Given the description of an element on the screen output the (x, y) to click on. 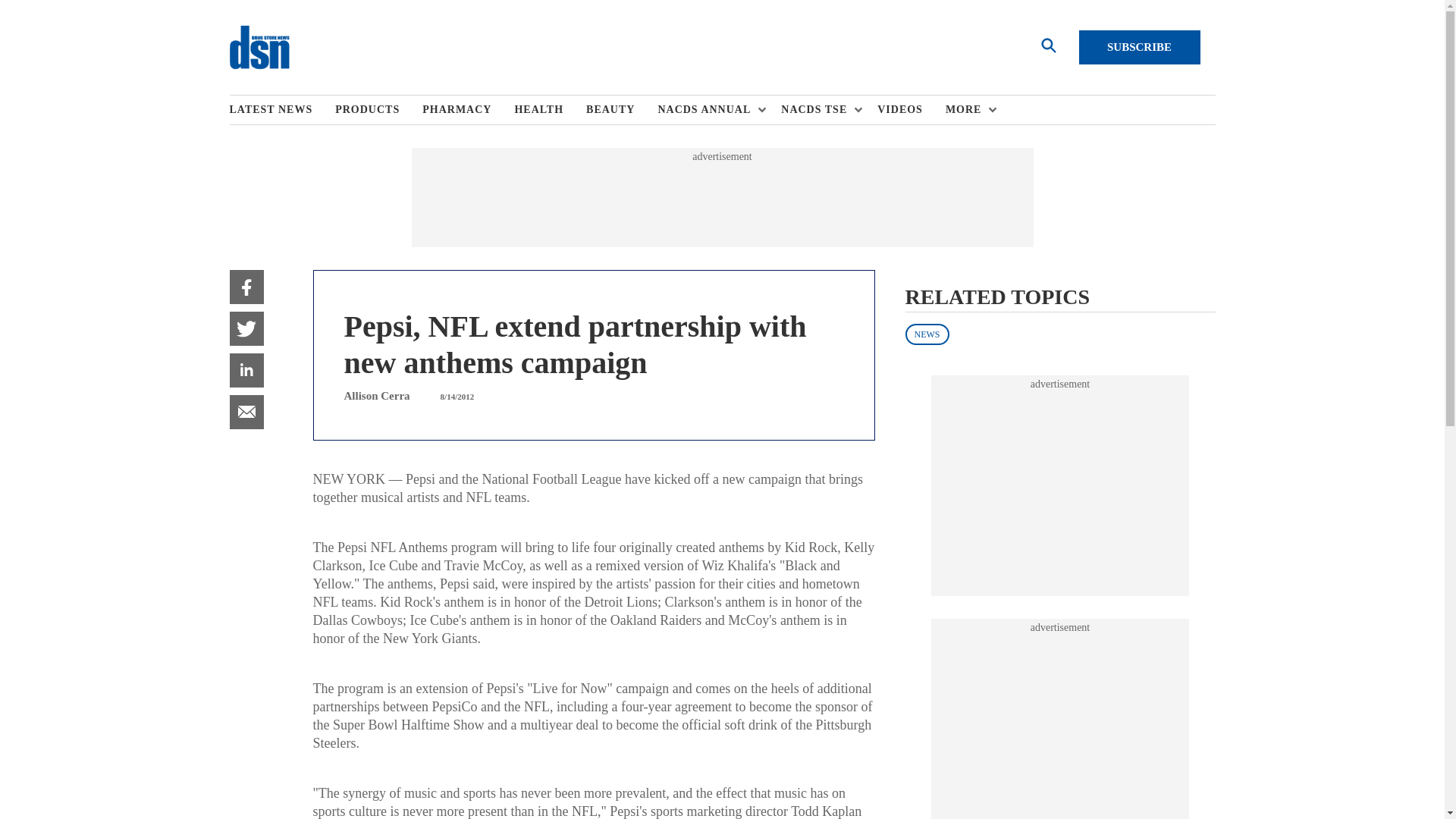
PRODUCTS (378, 109)
email (245, 411)
facebook (245, 286)
NACDS TSE (817, 109)
BEAUTY (622, 109)
3rd party ad content (1059, 726)
email (245, 411)
NACDS ANNUAL (708, 109)
twitter (245, 328)
linkedIn (245, 369)
